Given the description of an element on the screen output the (x, y) to click on. 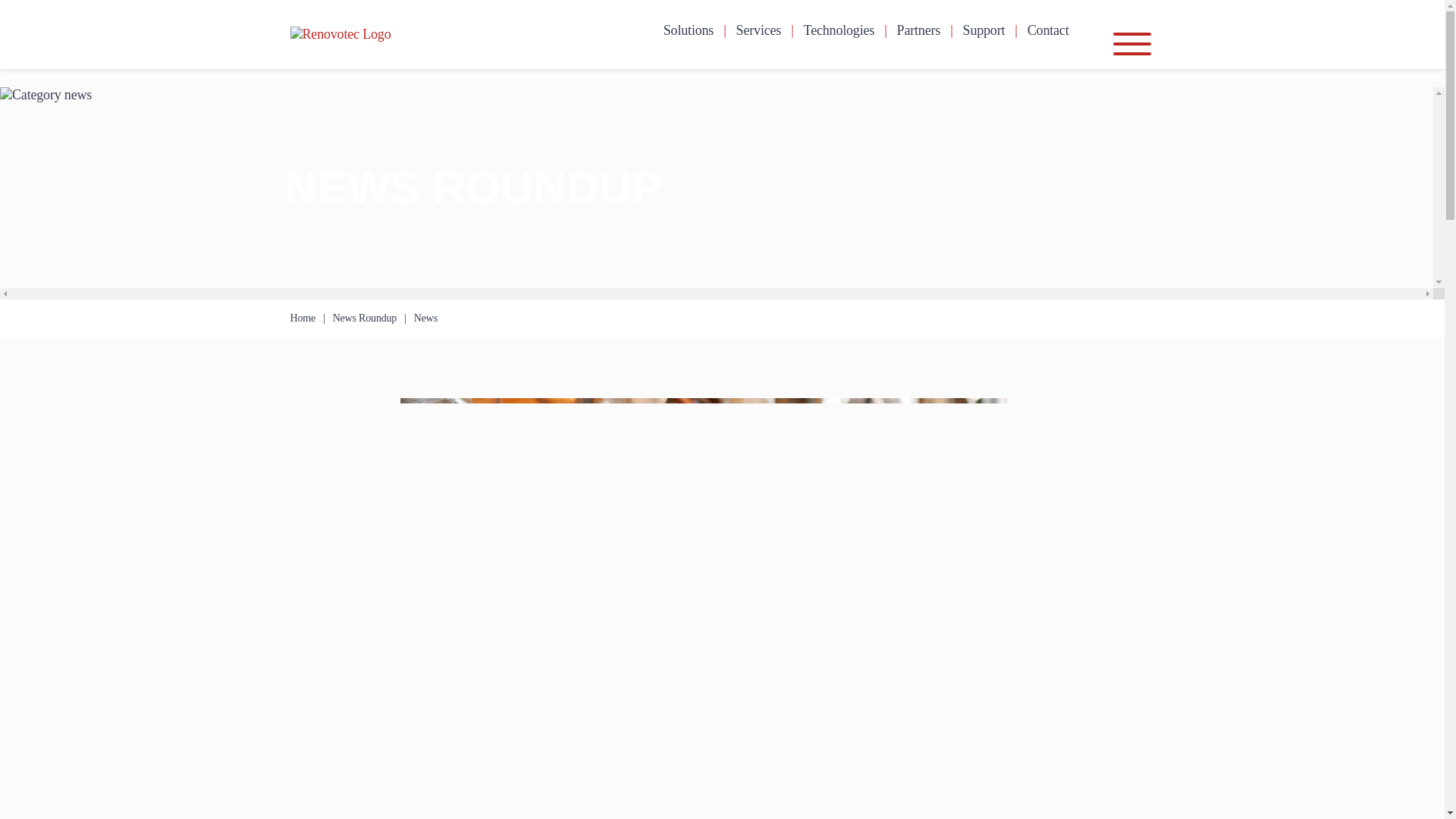
Technologies (839, 29)
Solutions (688, 29)
Services (758, 29)
Support (984, 29)
Contact (1047, 29)
Partners (918, 29)
